Given the description of an element on the screen output the (x, y) to click on. 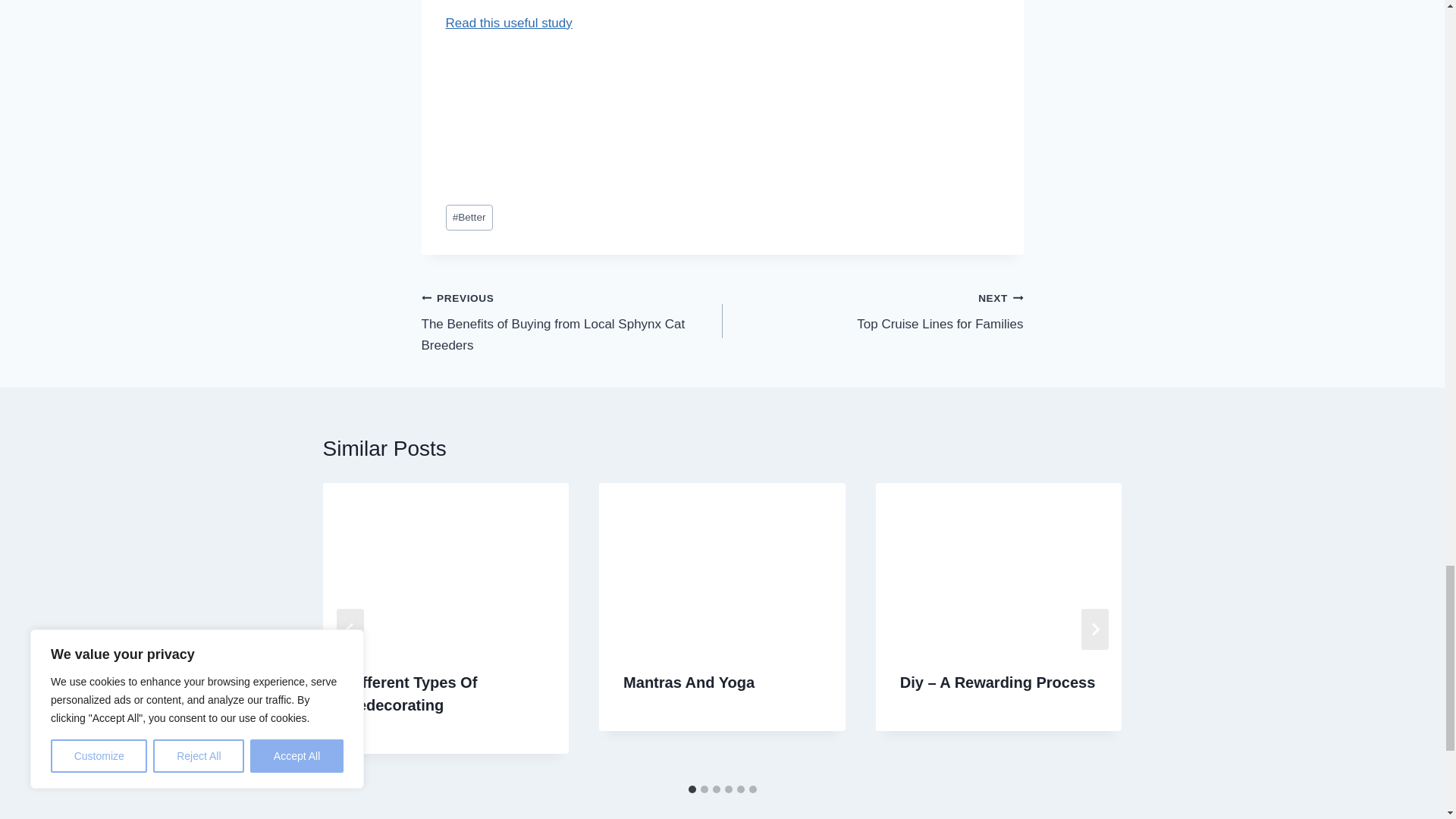
Better (872, 310)
Read this useful study (469, 217)
